Given the description of an element on the screen output the (x, y) to click on. 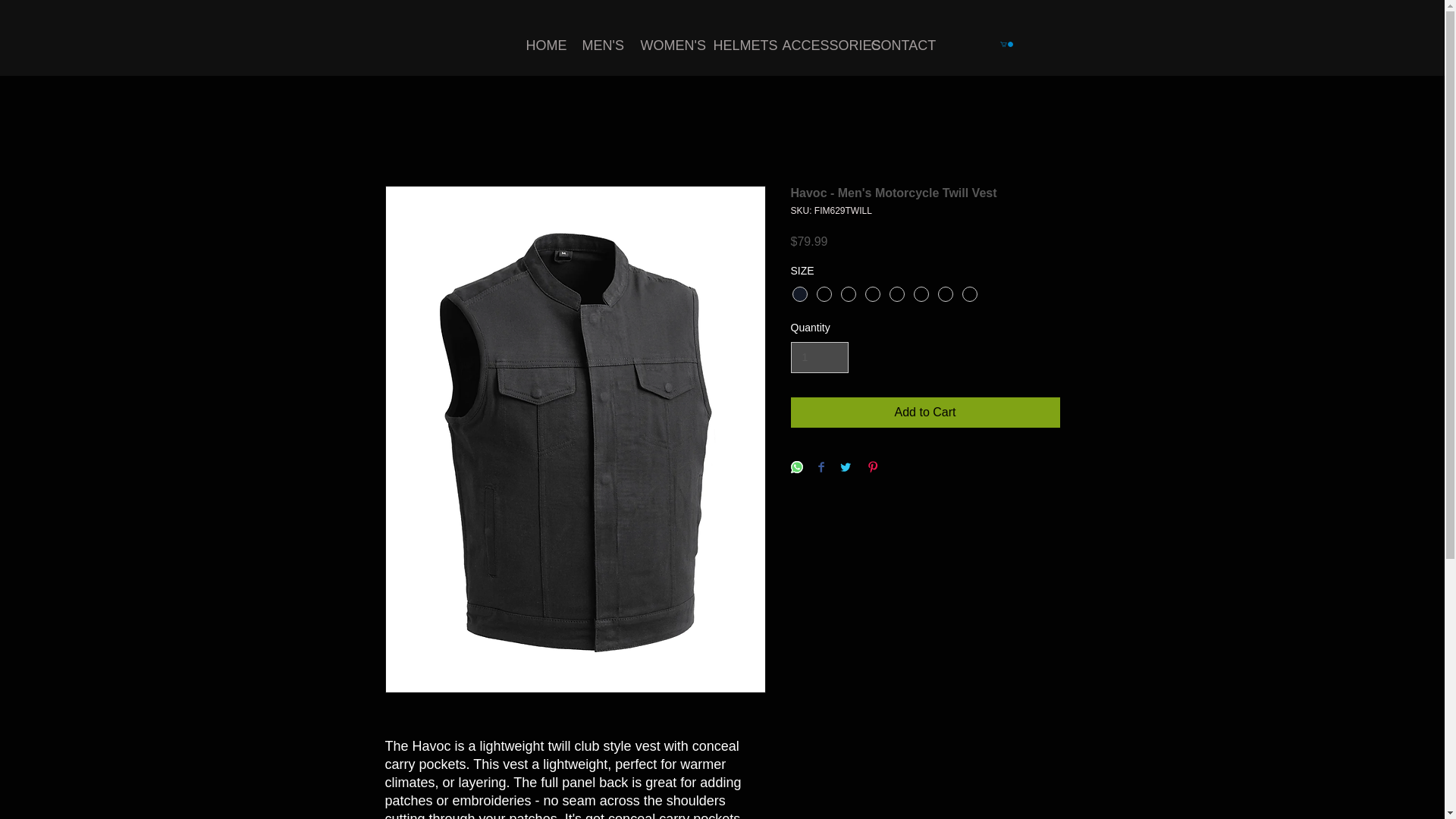
ACCESSORIES (814, 45)
HELMETS (736, 45)
Add to Cart (924, 412)
CONTACT (895, 45)
HOME (541, 45)
WOMEN'S (664, 45)
MEN'S (599, 45)
1 (818, 357)
